Given the description of an element on the screen output the (x, y) to click on. 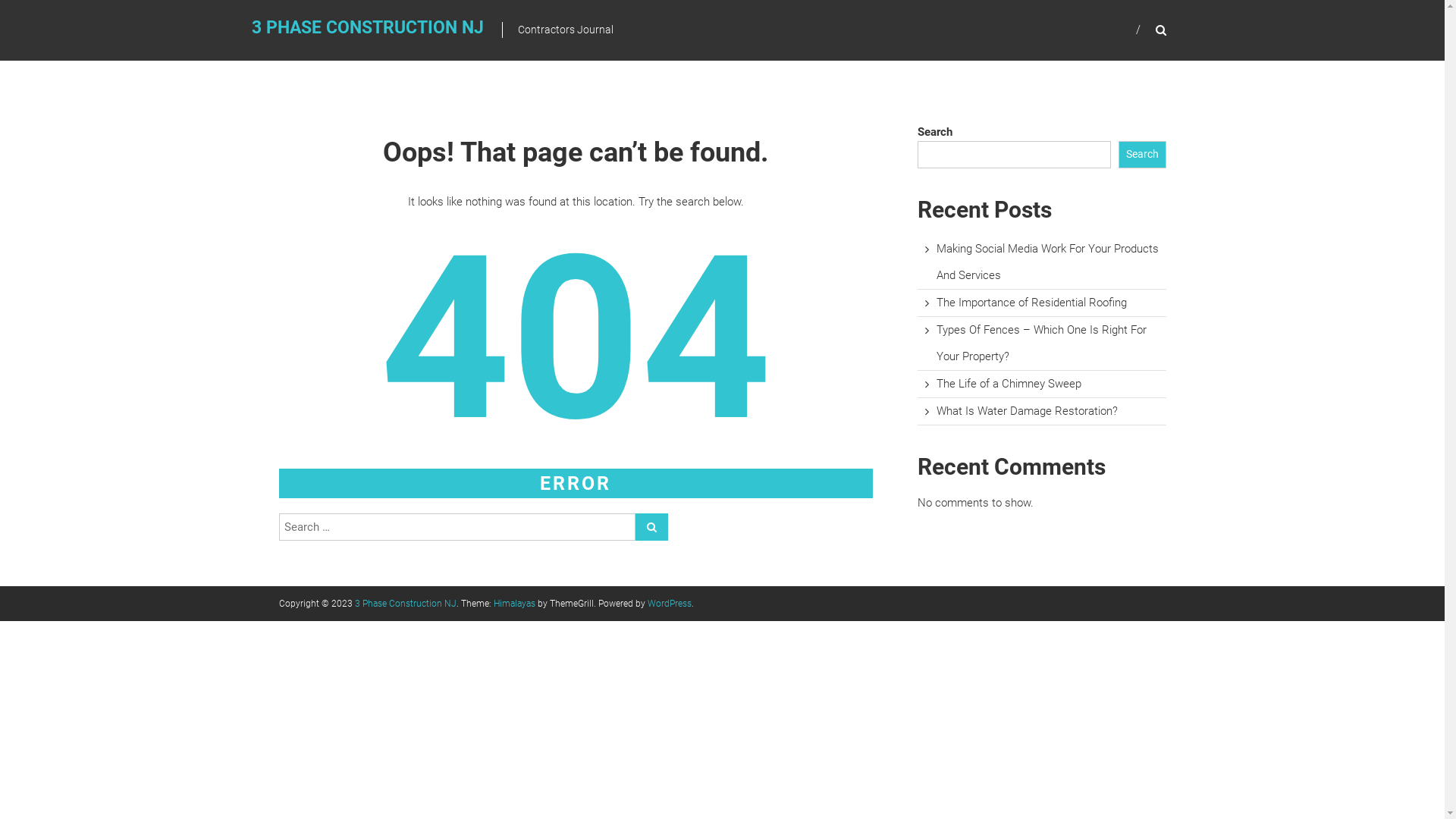
Search Element type: text (1142, 154)
3 PHASE CONSTRUCTION NJ Element type: text (367, 27)
Making Social Media Work For Your Products And Services Element type: text (1047, 261)
Himalayas Element type: text (513, 603)
3 Phase Construction NJ Element type: text (405, 603)
WordPress Element type: text (669, 603)
The Importance of Residential Roofing Element type: text (1031, 302)
Search Element type: text (651, 526)
Search Element type: text (1231, 409)
What Is Water Damage Restoration? Element type: text (1026, 410)
The Life of a Chimney Sweep Element type: text (1008, 383)
